Given the description of an element on the screen output the (x, y) to click on. 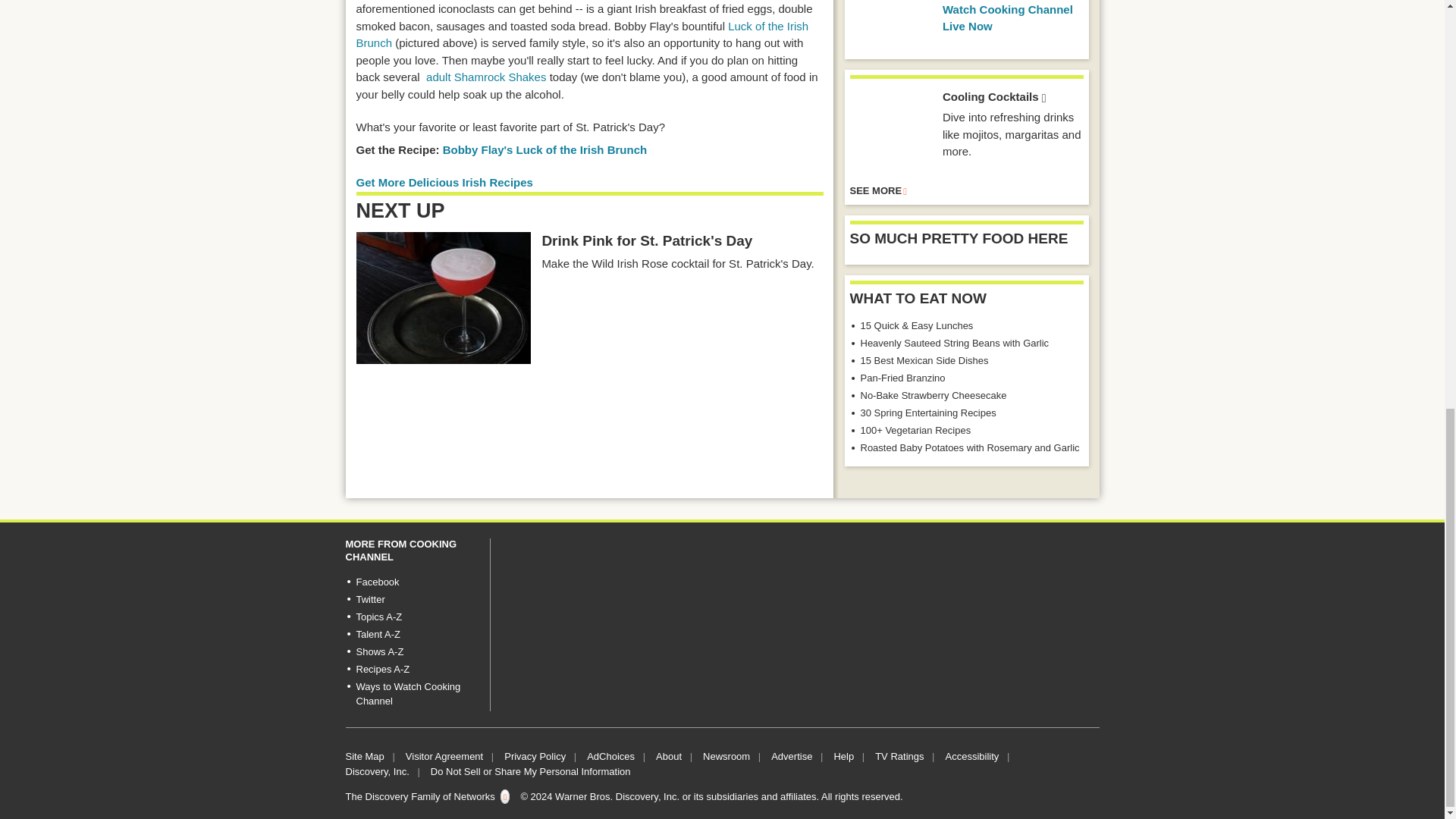
Luck of the Irish Brunch (582, 34)
adult Shamrock Shakes (486, 76)
Drink Pink for St. Patrick's Day (443, 297)
Cooling Cocktails (889, 130)
Get More Delicious Irish Recipes (444, 182)
Drink Pink for St. Patrick's Day (646, 240)
Bobby Flay's Luck of the Irish Brunch (544, 149)
